Given the description of an element on the screen output the (x, y) to click on. 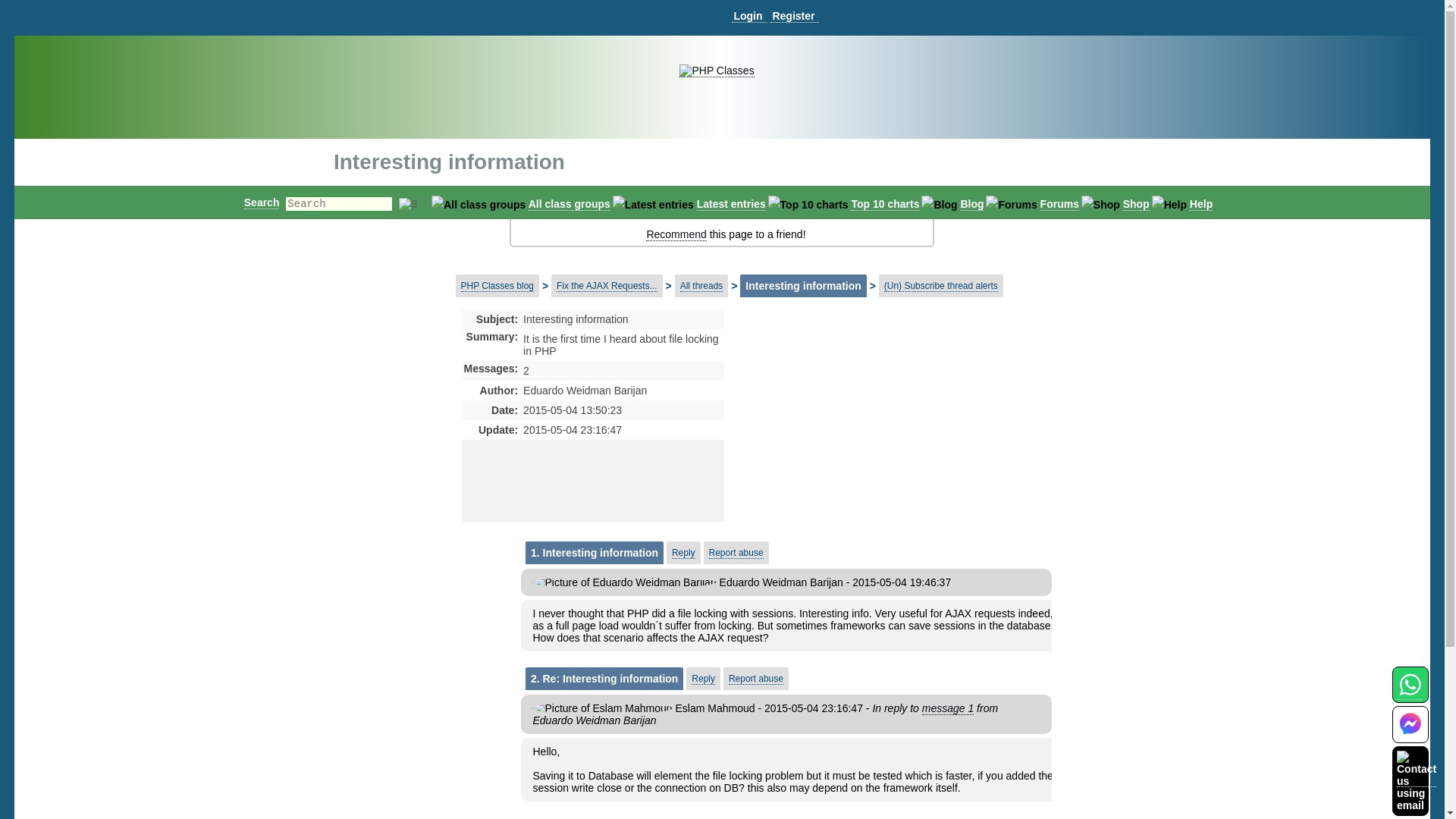
Reply (702, 678)
Register (794, 15)
Contact us using WhatsApp (1409, 693)
Contact us using email (1415, 780)
Reply (683, 552)
Picture of Eslam Mahmoud (601, 707)
Blog (971, 204)
Top 10 charts (884, 204)
Help (1200, 204)
message 1 (947, 707)
Fix the AJAX Requests... (607, 285)
All threads (701, 285)
Contact us using Messenger (1409, 733)
PHP Classes blog (497, 285)
Report abuse (756, 678)
